Given the description of an element on the screen output the (x, y) to click on. 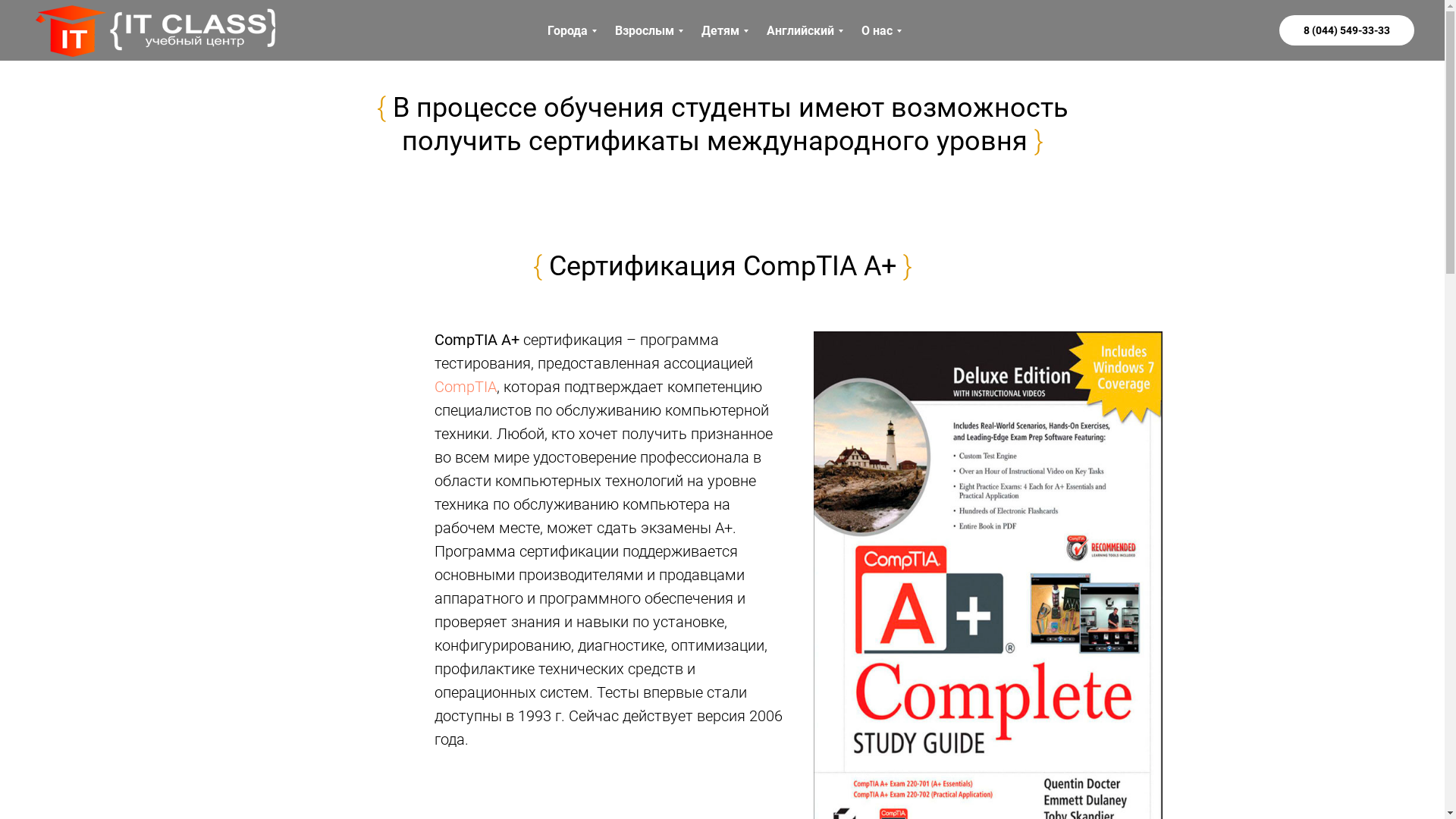
8 (044) 549-33-33 Element type: text (1346, 30)
CompTIA Element type: text (464, 386)
